Given the description of an element on the screen output the (x, y) to click on. 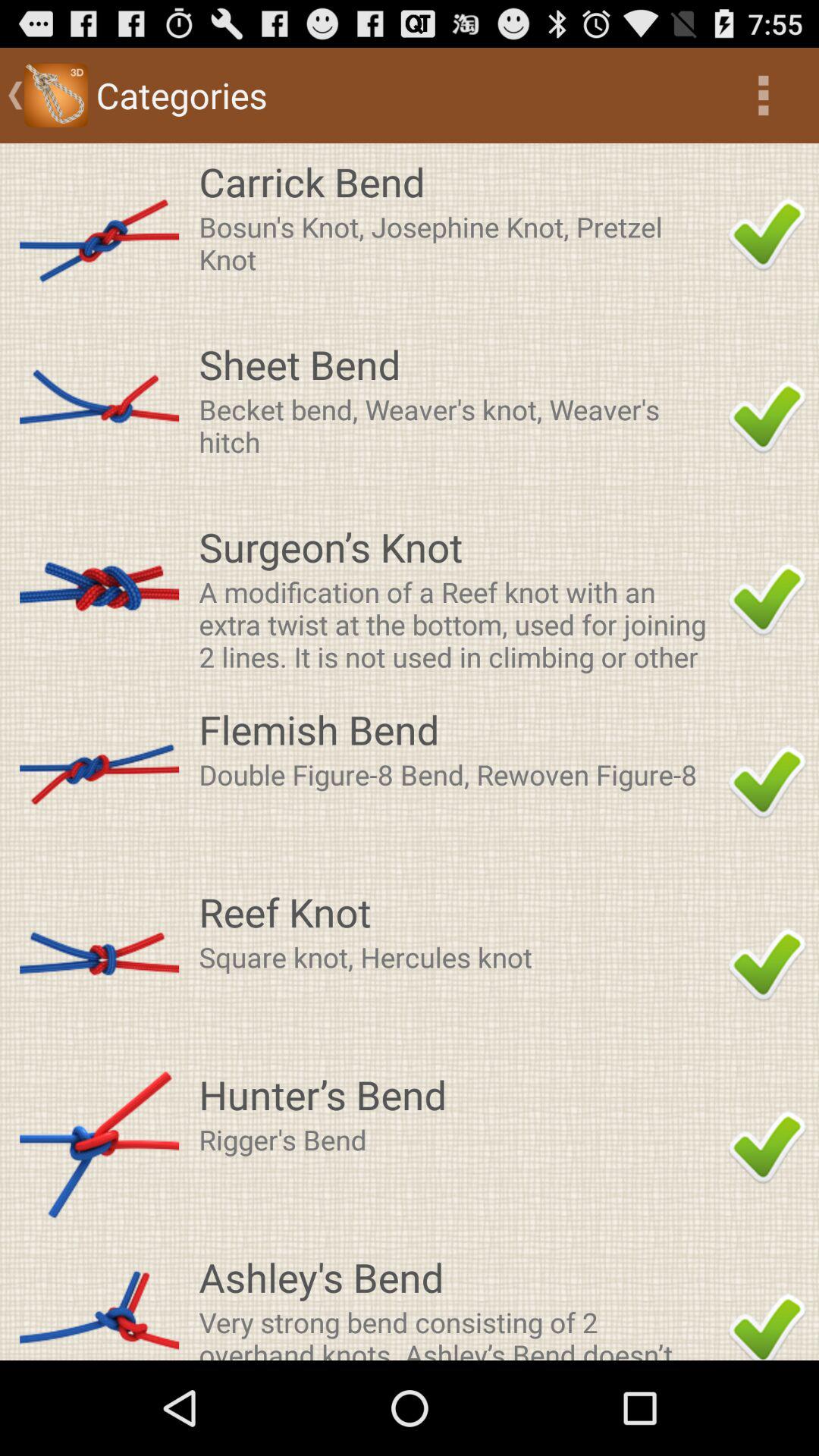
select the double figure 8 item (459, 774)
